Given the description of an element on the screen output the (x, y) to click on. 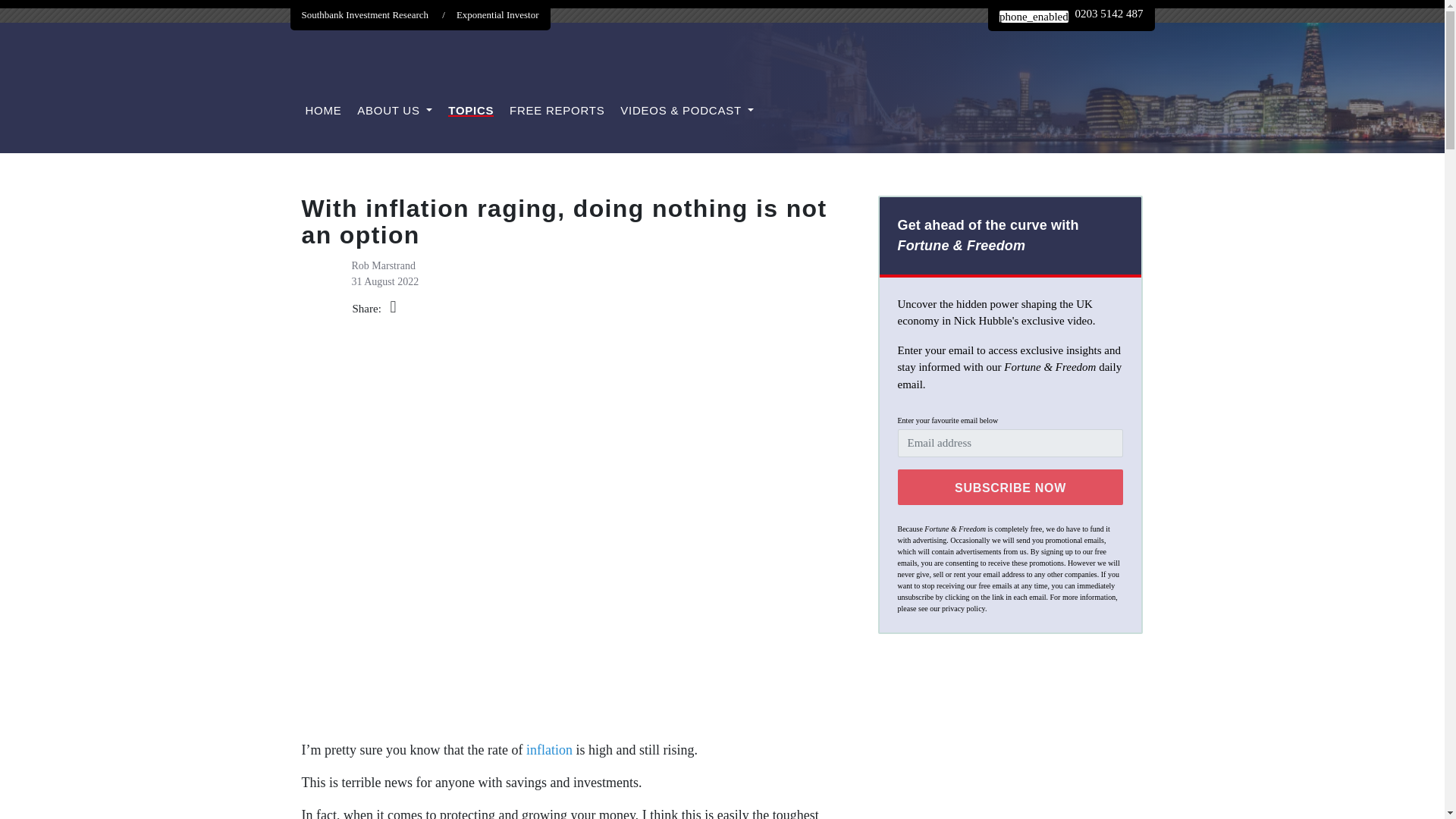
TOPICS (470, 110)
Rob Marstrand (383, 265)
inflation (548, 749)
FREE REPORTS (556, 110)
HOME (322, 110)
ABOUT US (394, 110)
privacy policy (963, 608)
SUBSCRIBE NOW (1011, 486)
